Given the description of an element on the screen output the (x, y) to click on. 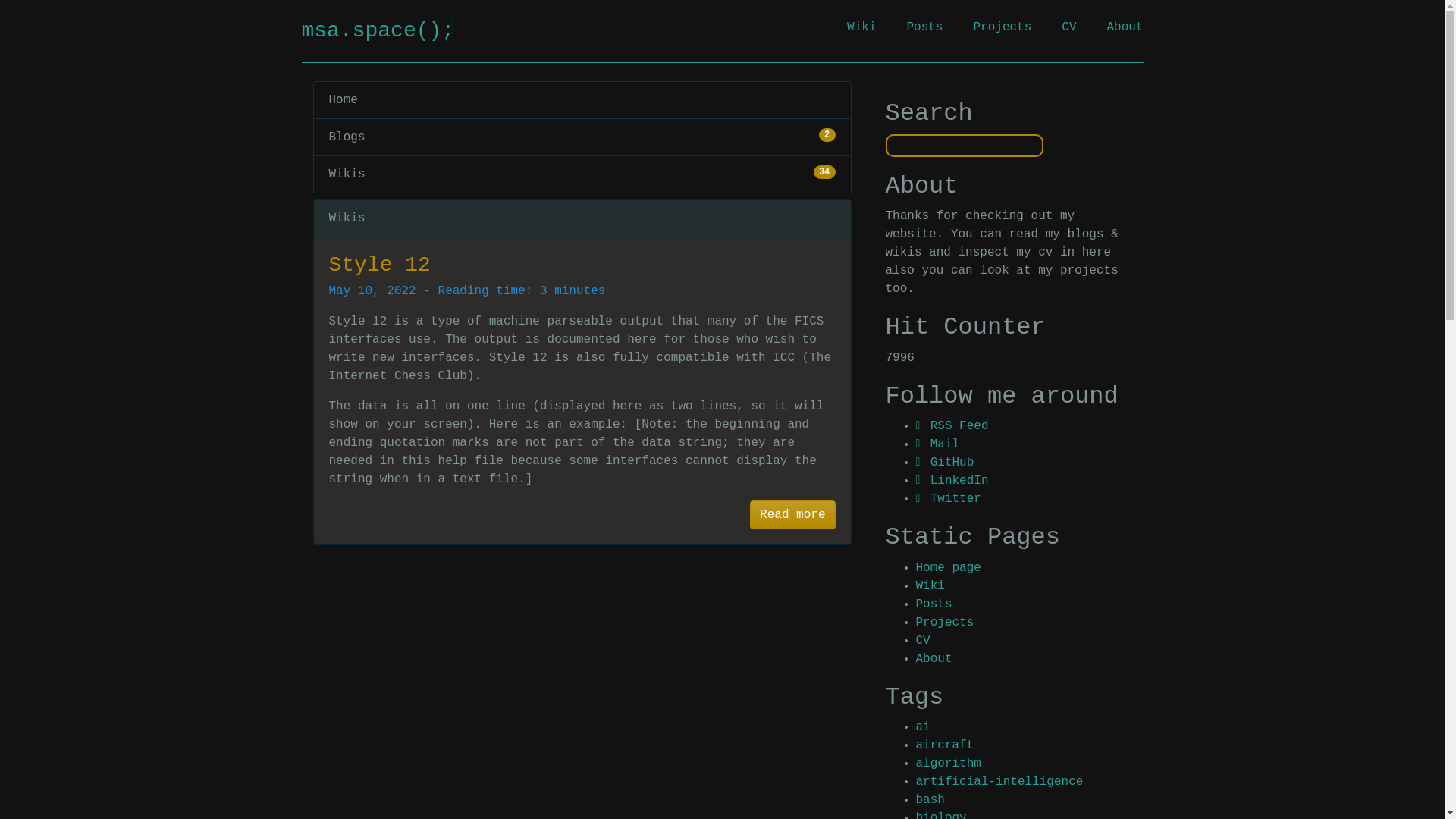
Home page (948, 567)
Home (581, 99)
Wiki (929, 585)
Projects (1001, 27)
ai (922, 726)
biology (940, 815)
Wiki (861, 27)
Read more (791, 514)
Posts (923, 27)
aircraft (581, 137)
CV (944, 745)
algorithm (922, 640)
Projects (581, 174)
